Given the description of an element on the screen output the (x, y) to click on. 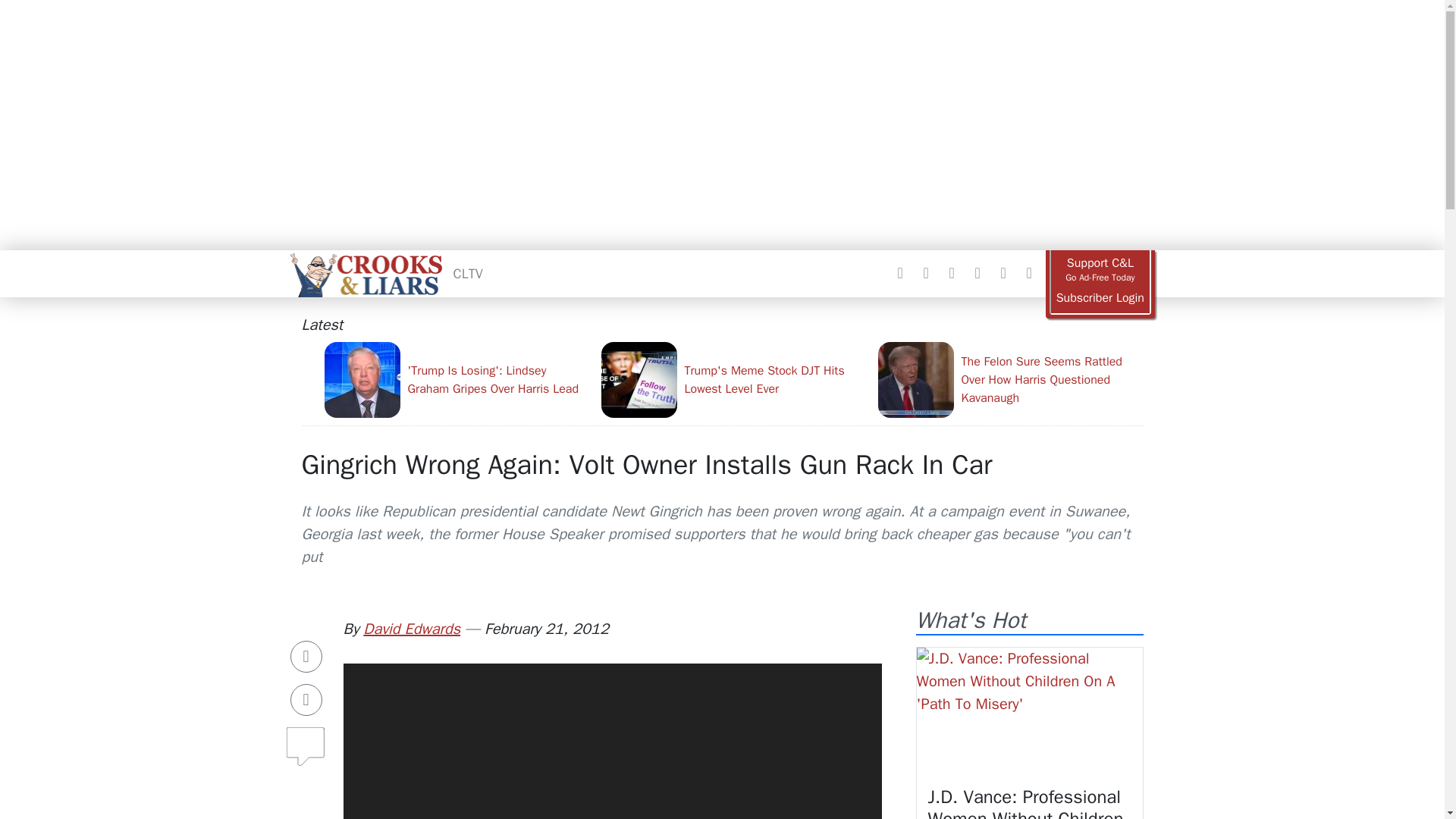
Gingrich Wrong Again: Volt Owner Installs Gun Rack In Car (646, 464)
Go ad free today! (1099, 270)
David Edwards (411, 628)
'Trump Is Losing': Lindsey Graham Gripes Over Harris Lead (456, 379)
Comments (306, 740)
Subscriber Login (1099, 298)
'Trump Is Losing': Lindsey Graham Gripes Over Harris Lead (456, 379)
David Edwards (411, 628)
Share on Facebook (306, 656)
